Given the description of an element on the screen output the (x, y) to click on. 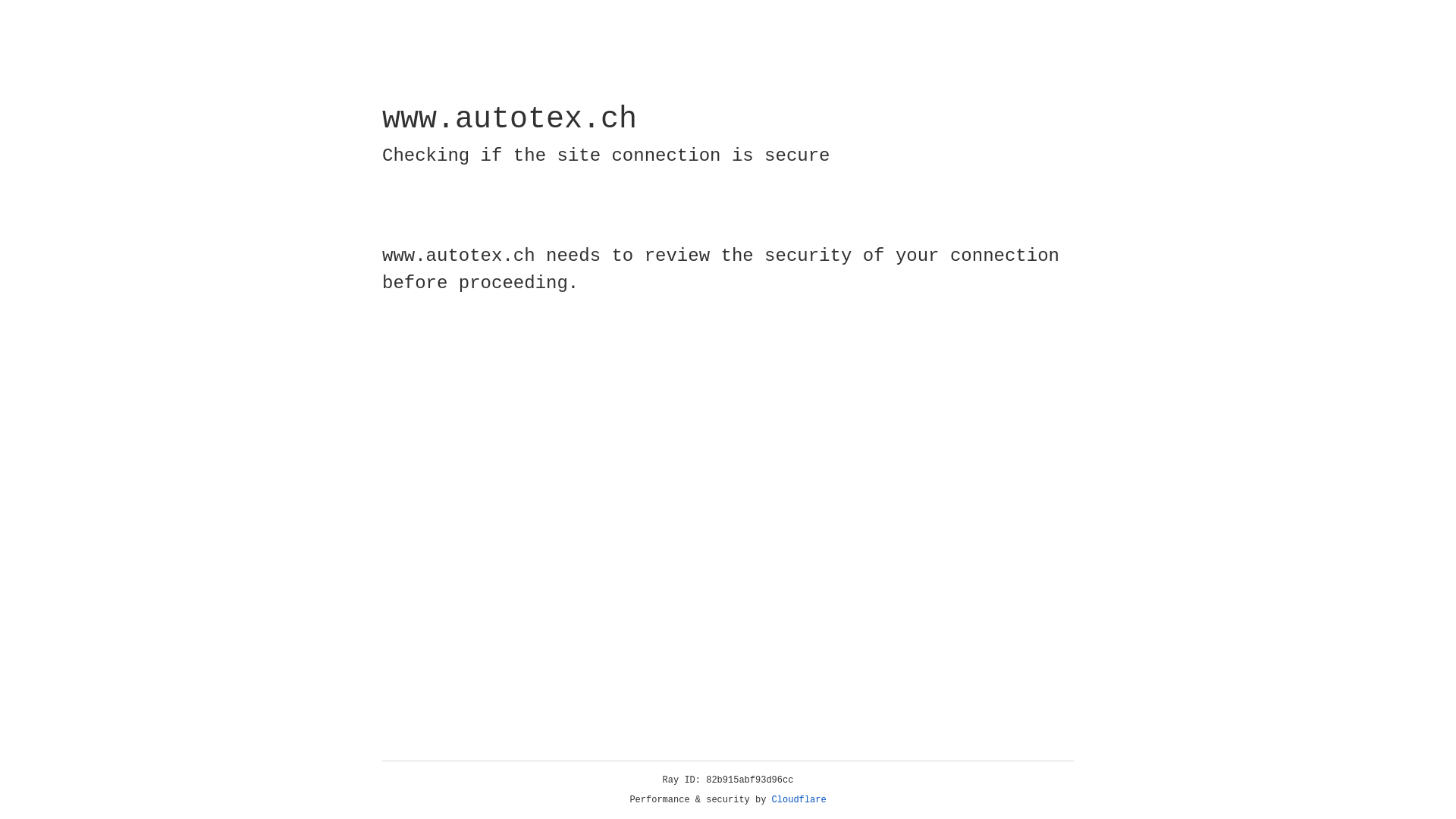
Cloudflare Element type: text (798, 799)
